Given the description of an element on the screen output the (x, y) to click on. 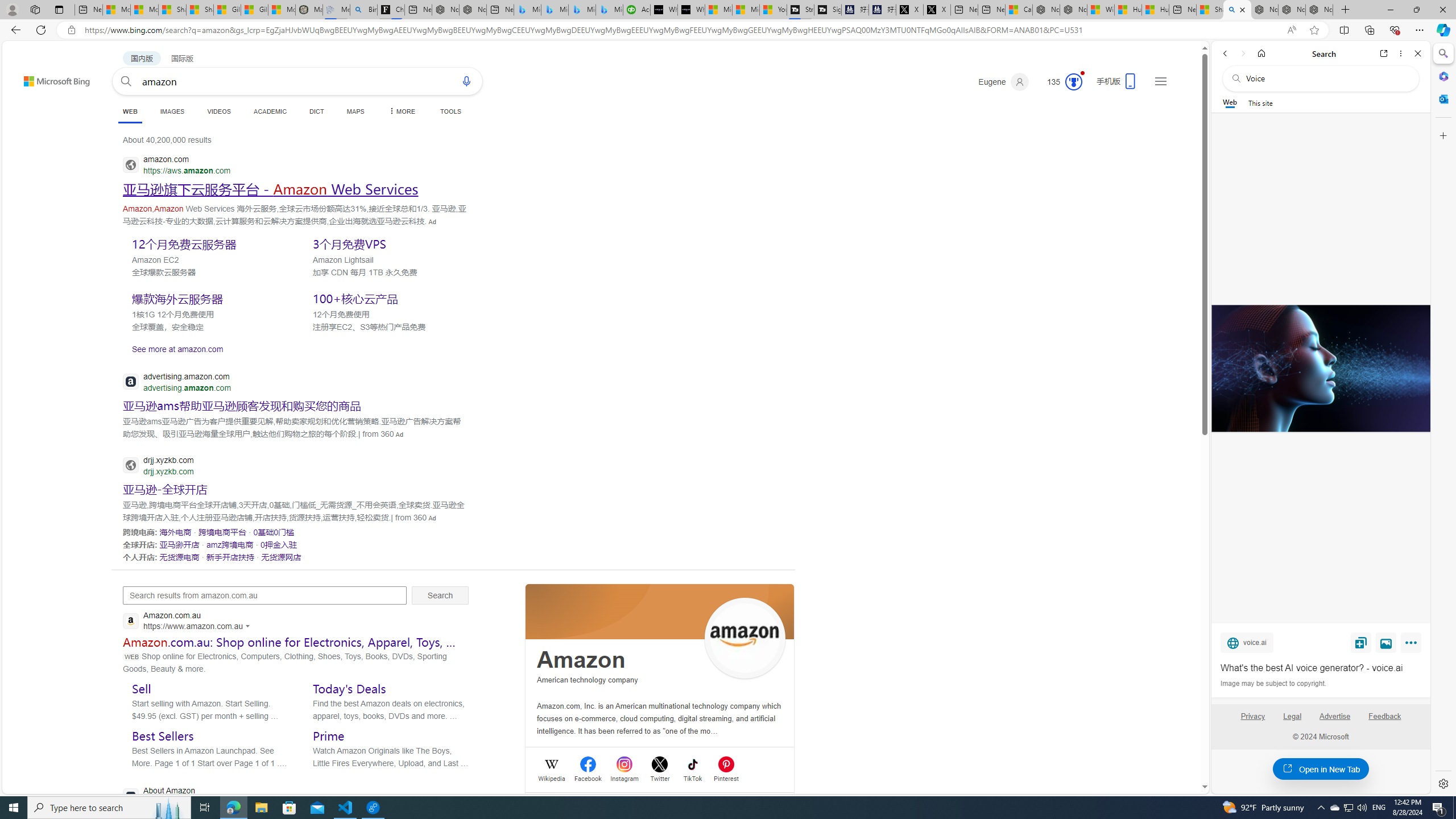
Privacy (1252, 715)
Open link in new tab (1383, 53)
American technology company (587, 679)
Microsoft Start (746, 9)
Image may be subject to copyright. (1273, 682)
WEB (129, 112)
Nordace - Siena Pro 15 Essential Set (1319, 9)
VIDEOS (218, 111)
New tab (1182, 9)
View image (1385, 642)
Open in New Tab (1321, 768)
Workspaces (34, 9)
Manatee Mortality Statistics | FWC (309, 9)
